Given the description of an element on the screen output the (x, y) to click on. 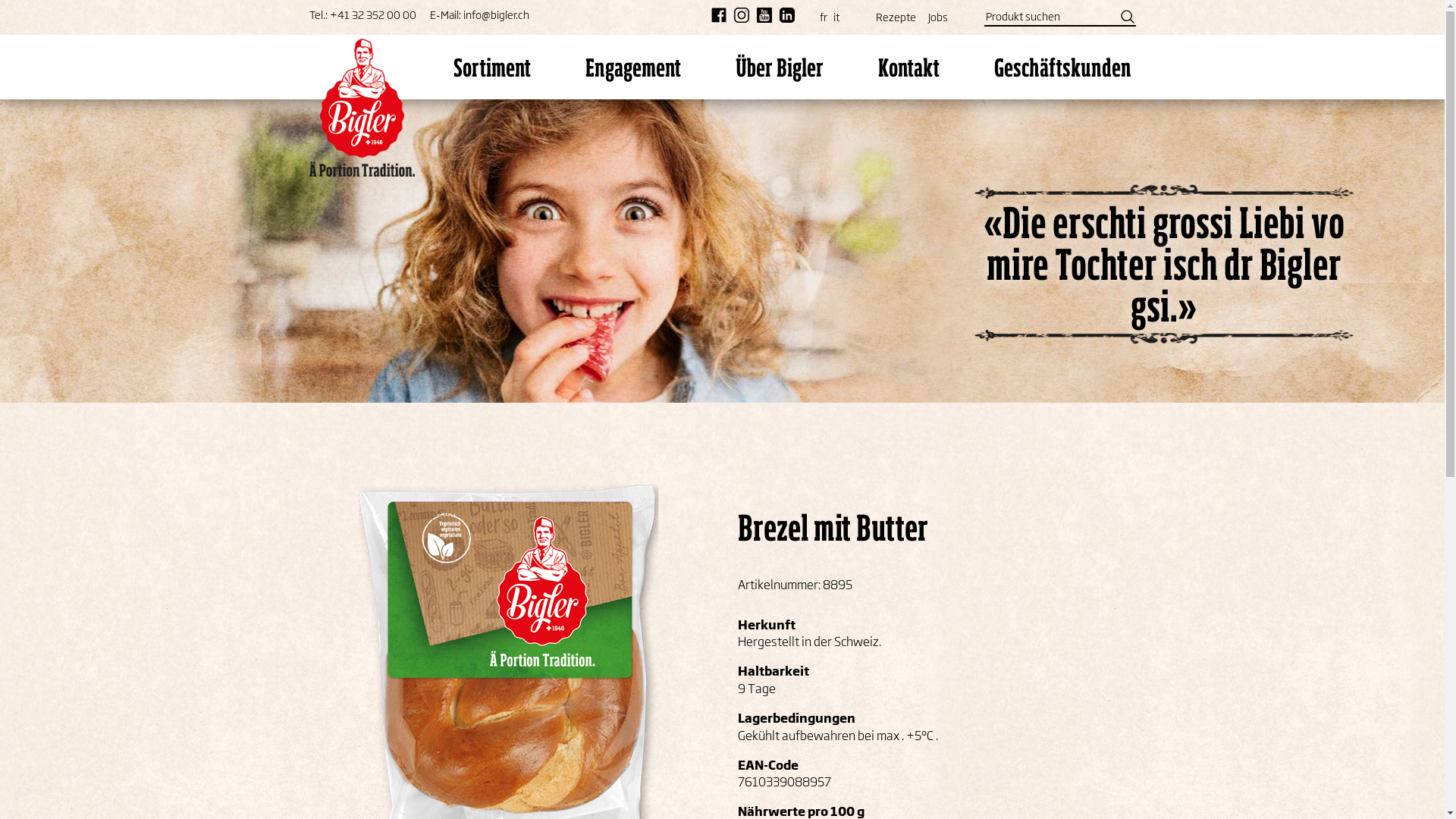
Sortiment Element type: text (491, 67)
+41 32 352 00 00 Element type: text (372, 14)
Engagement Element type: text (632, 67)
Rezepte Element type: text (895, 13)
info@bigler.ch Element type: text (495, 14)
fr Element type: text (819, 13)
Kontakt Element type: text (907, 67)
Jobs Element type: text (937, 13)
it Element type: text (832, 13)
